Given the description of an element on the screen output the (x, y) to click on. 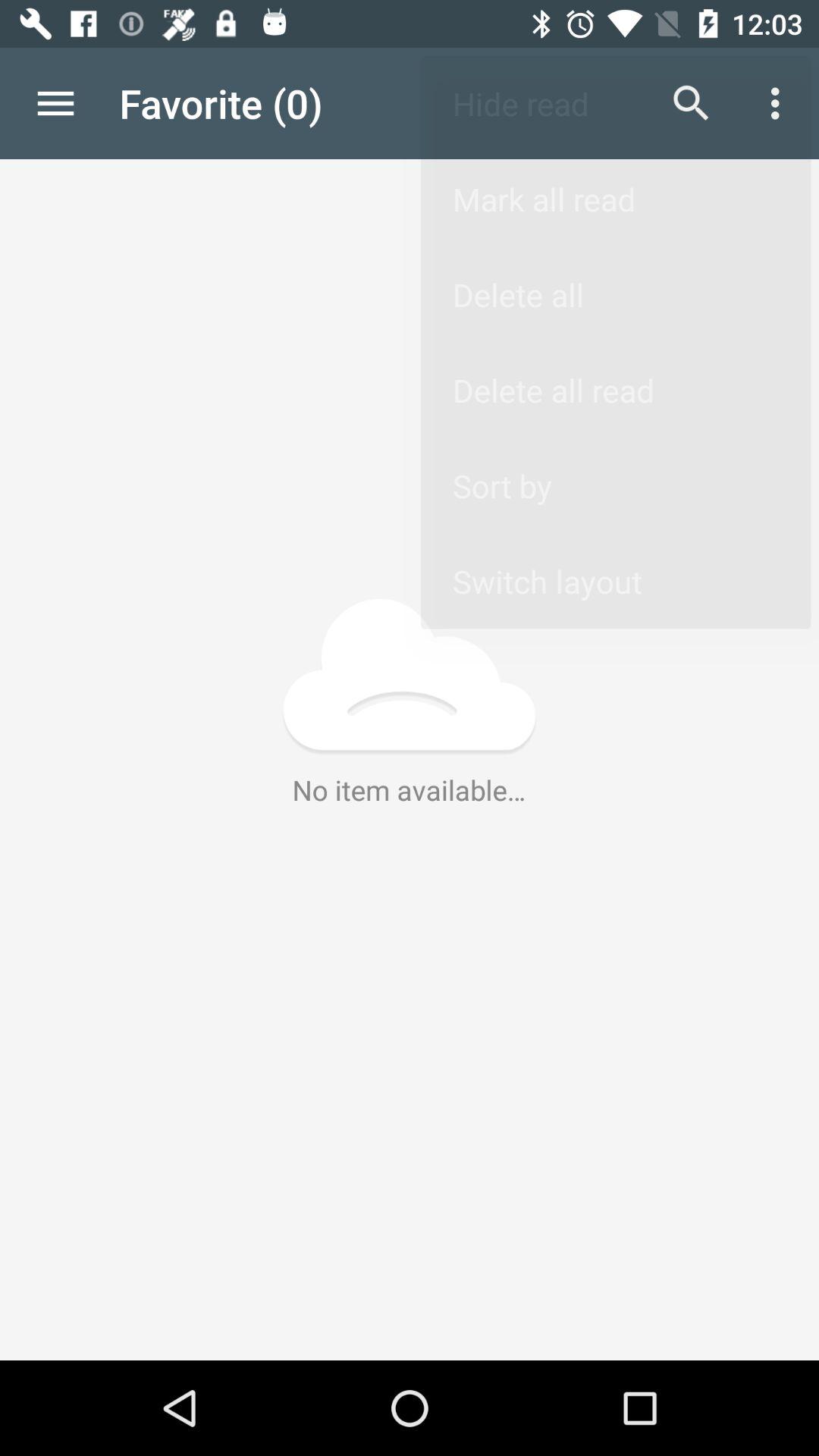
choose the item next to favorite (0) item (691, 103)
